Given the description of an element on the screen output the (x, y) to click on. 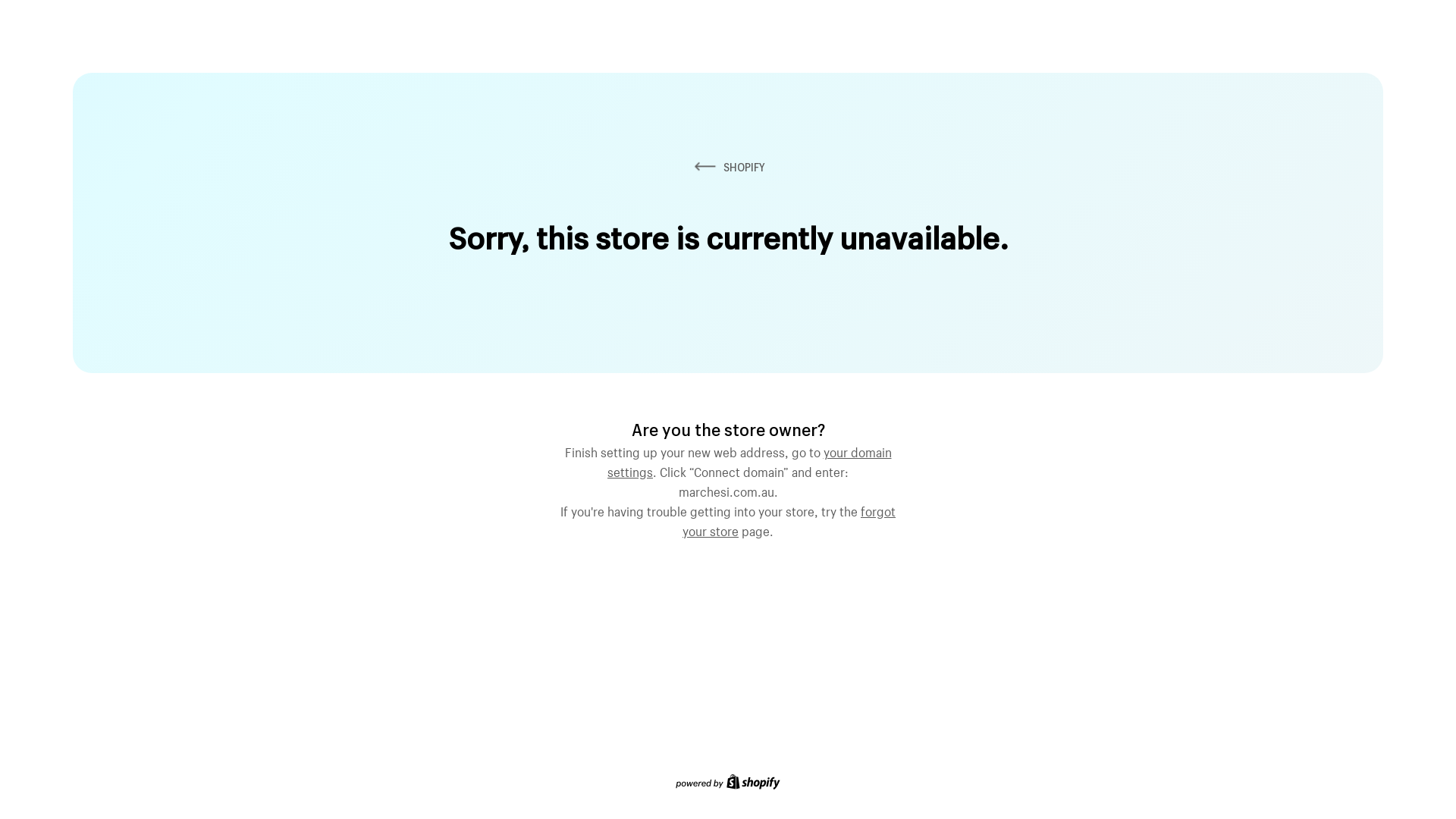
forgot your store Element type: text (788, 519)
your domain settings Element type: text (749, 460)
SHOPIFY Element type: text (727, 167)
